Given the description of an element on the screen output the (x, y) to click on. 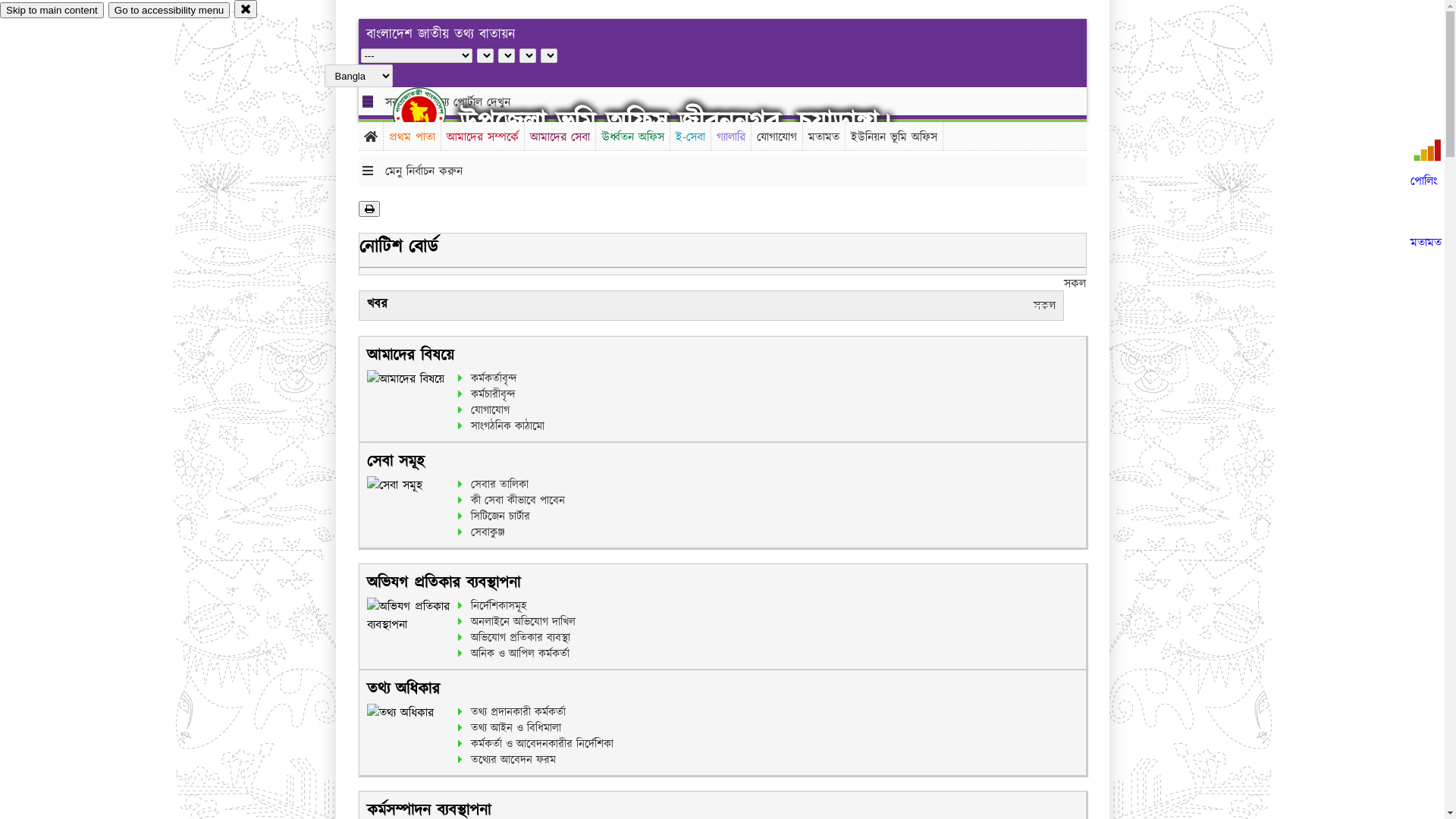

                
             Element type: hover (431, 112)
close Element type: hover (245, 9)
Skip to main content Element type: text (51, 10)
Go to accessibility menu Element type: text (168, 10)
